Given the description of an element on the screen output the (x, y) to click on. 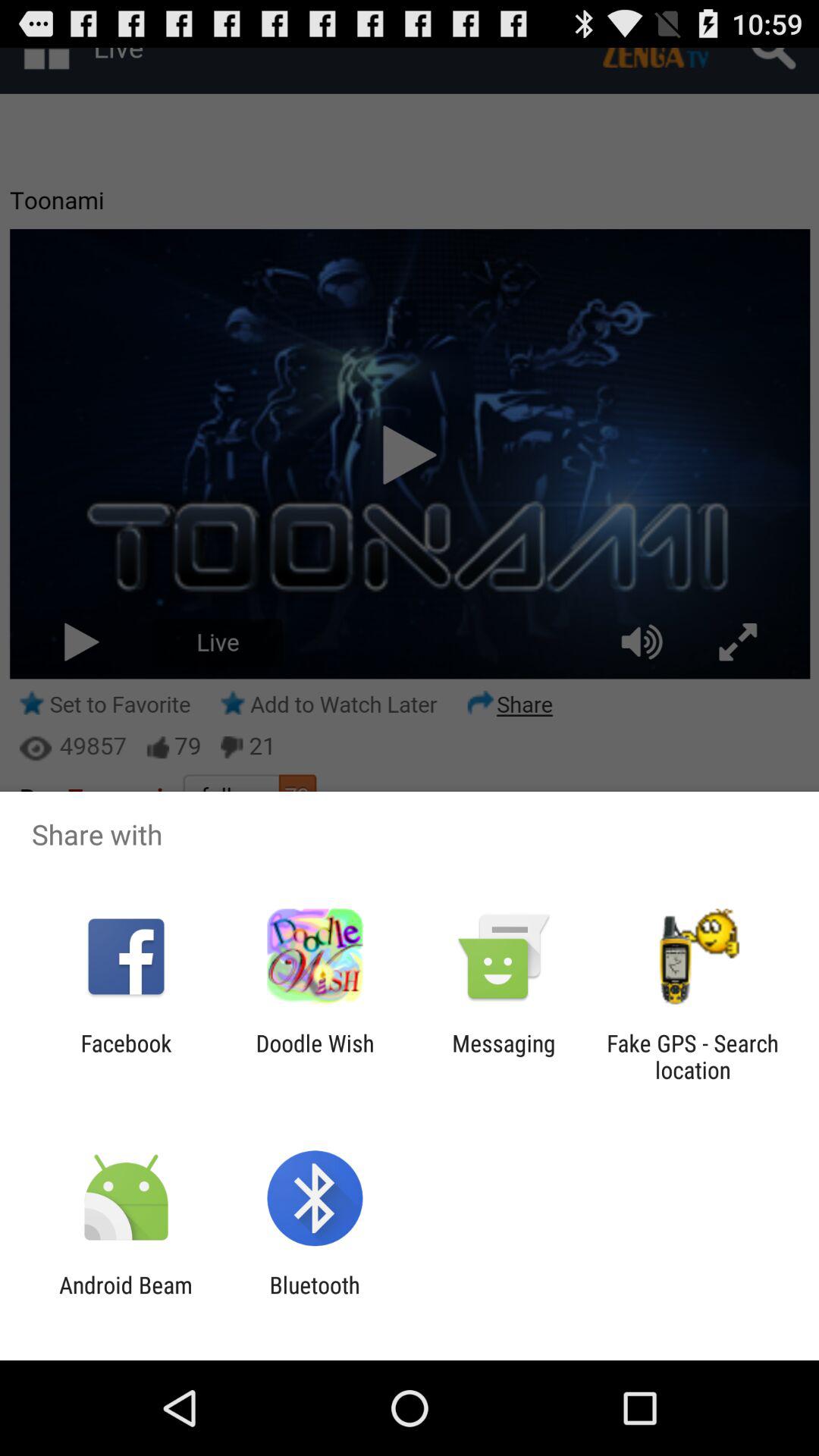
tap app to the left of the fake gps search (503, 1056)
